Given the description of an element on the screen output the (x, y) to click on. 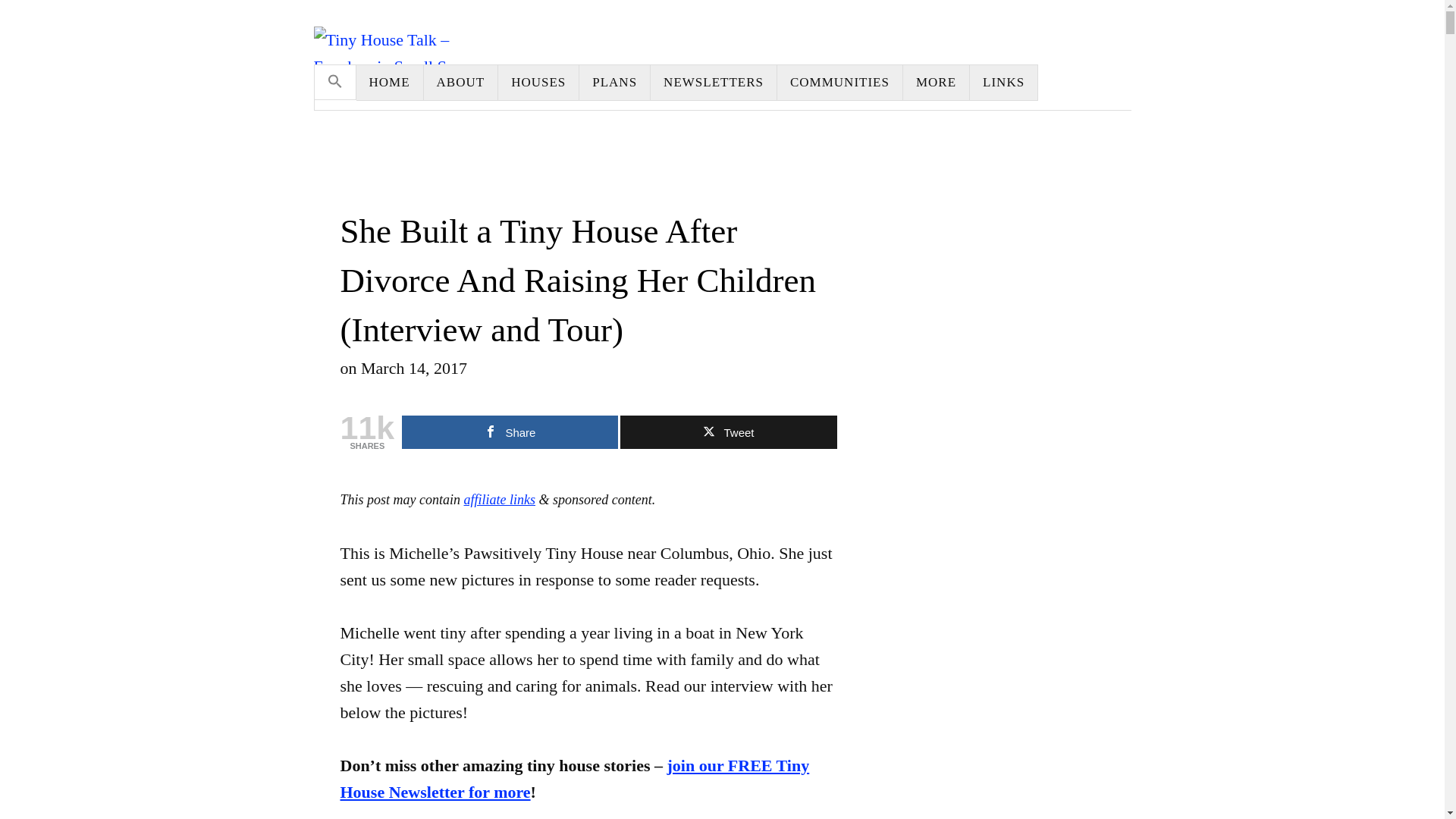
MORE (935, 82)
ABOUT (461, 82)
HOUSES (538, 82)
2017-03-14 (414, 367)
COMMUNITIES (839, 82)
NEWSLETTERS (713, 82)
HOME (389, 82)
PLANS (614, 82)
